Given the description of an element on the screen output the (x, y) to click on. 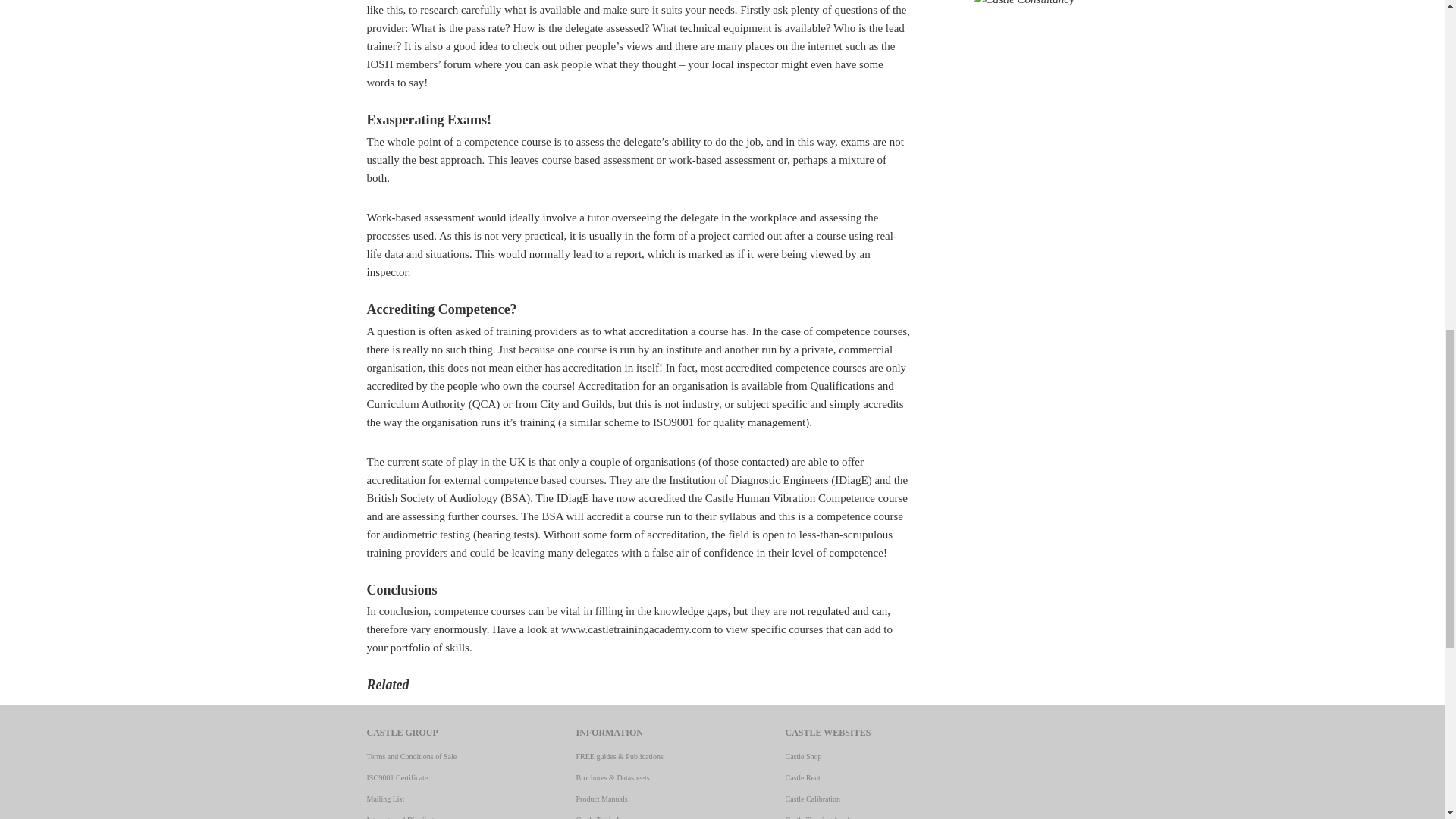
ISO9001 Certificate (397, 777)
Castle Calibration (813, 798)
International Distributors (405, 817)
Product Manuals (601, 798)
Castle Shop (804, 756)
Castle Training Academy (824, 817)
Terms and Conditions of Sale (411, 756)
Castle Trade-In (599, 817)
Castle Rent (803, 777)
